Given the description of an element on the screen output the (x, y) to click on. 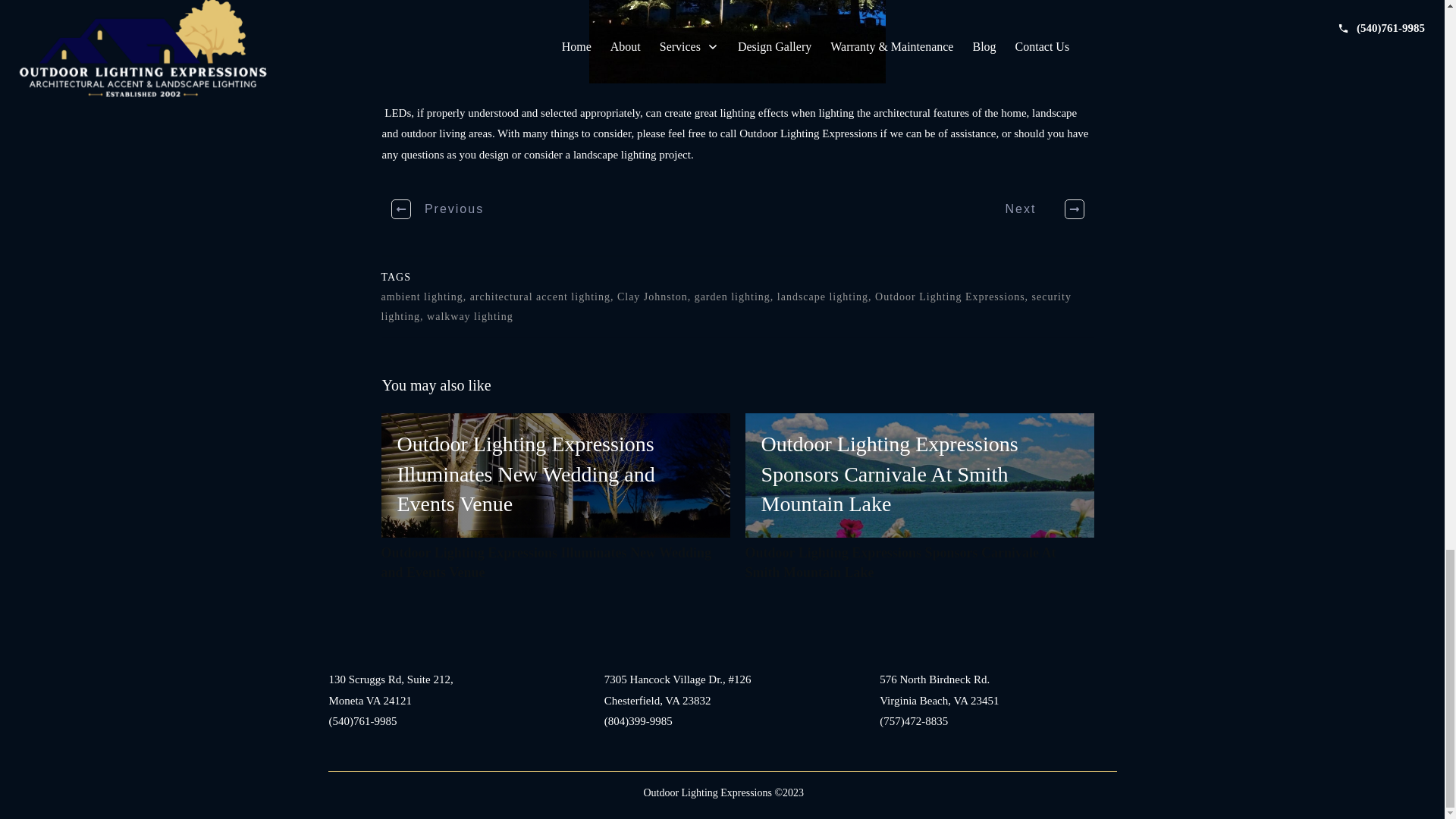
Next (1036, 209)
Previous (438, 209)
Wattsman-Ornamental-Trees (737, 41)
